Given the description of an element on the screen output the (x, y) to click on. 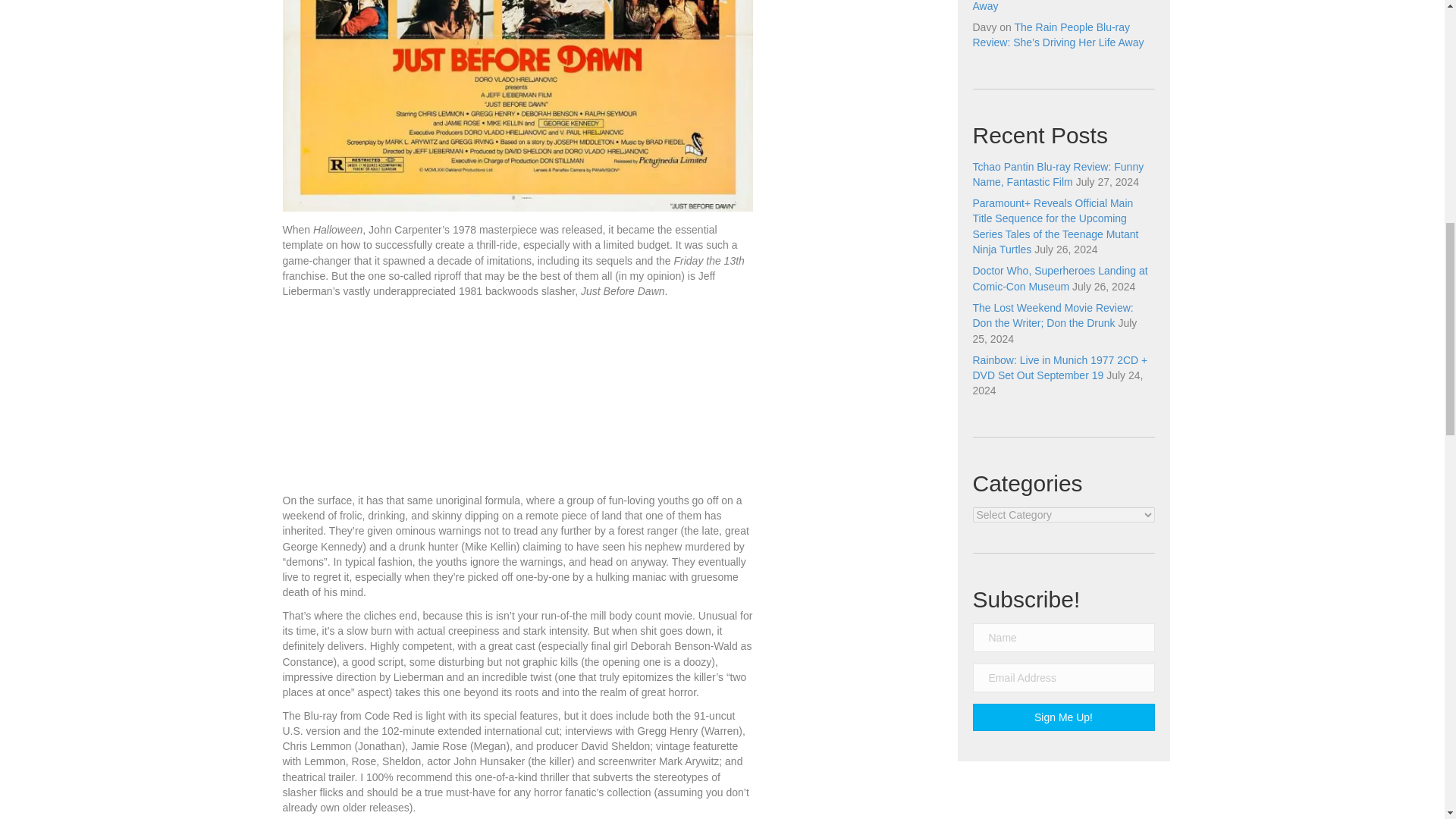
Tchao Pantin Blu-ray Review: Funny Name, Fantastic Film (1057, 174)
Doctor Who, Superheroes Landing at Comic-Con Museum (1059, 277)
Sign Me Up! (1063, 717)
The Lost Weekend Movie Review: Don the Writer; Don the Drunk (1052, 315)
